Given the description of an element on the screen output the (x, y) to click on. 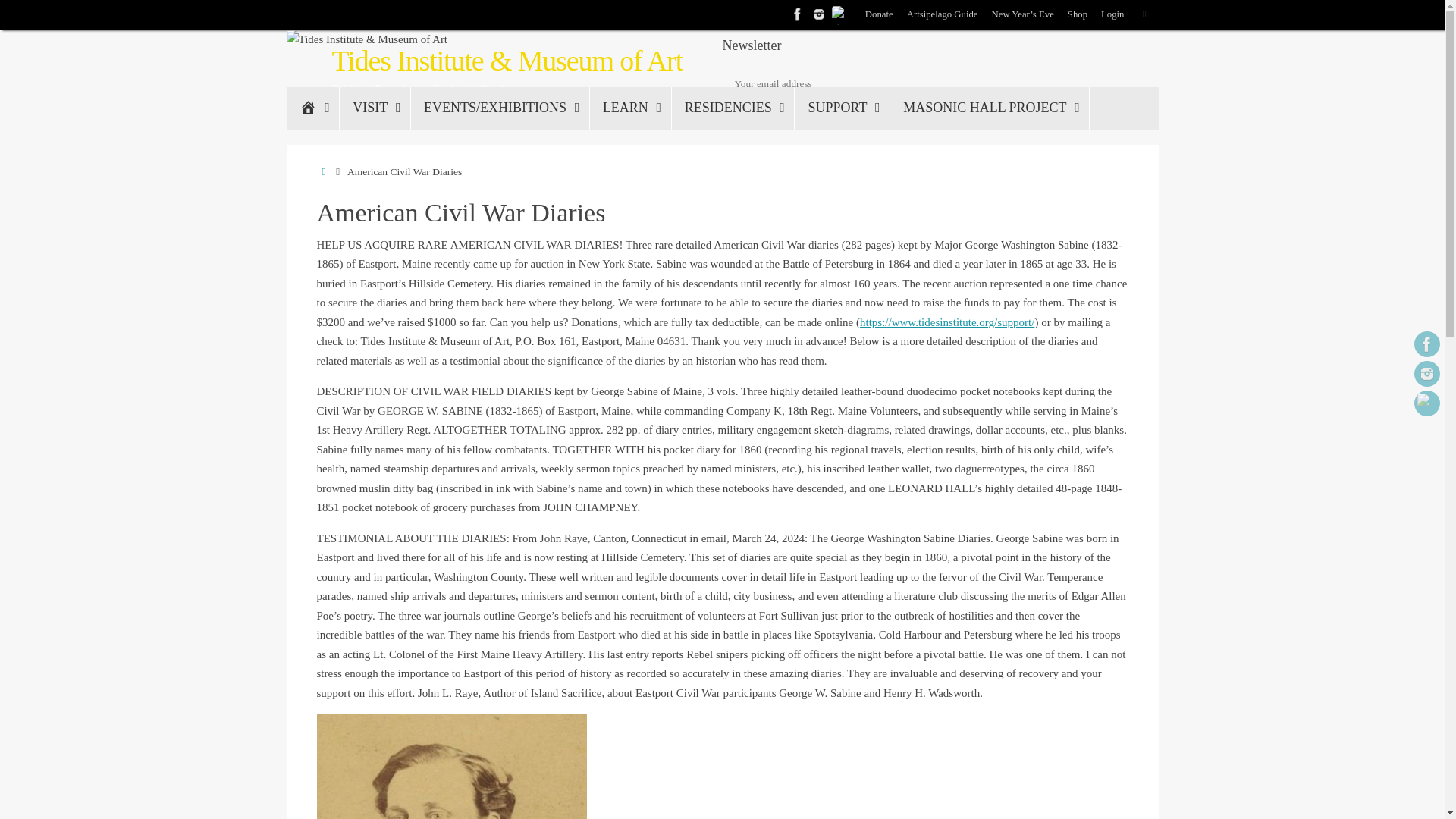
Artsipelago Guide (942, 15)
Facebook (1426, 344)
Instagram (818, 14)
YouTube (1426, 403)
HOME (312, 107)
LEARN (630, 107)
Instagram (1426, 373)
YouTube (839, 14)
RESIDENCIES (732, 107)
Sign Up for Updates (787, 112)
